Given the description of an element on the screen output the (x, y) to click on. 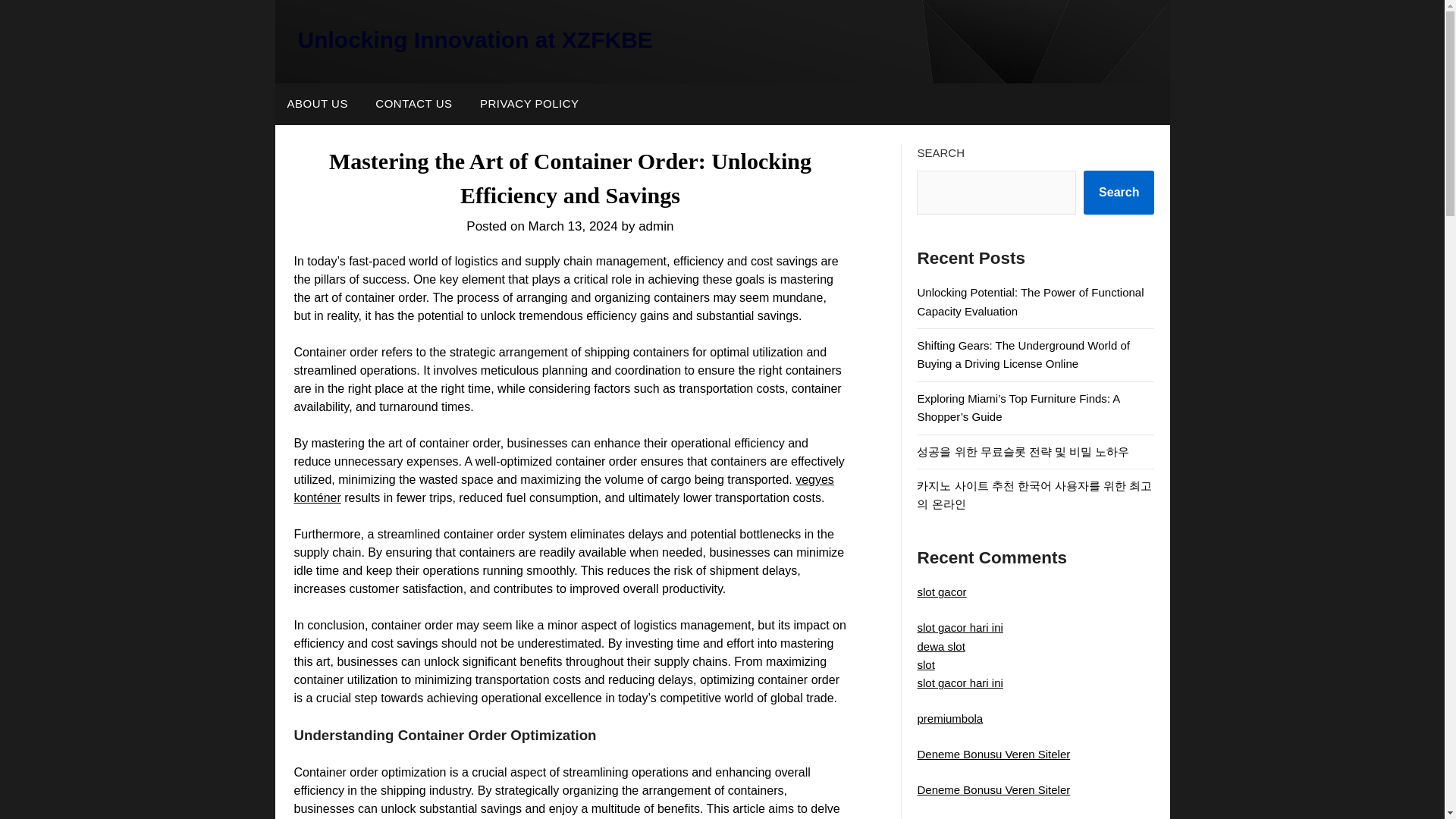
PRIVACY POLICY (529, 103)
admin (655, 226)
Search (1118, 192)
ABOUT US (317, 103)
Deneme Bonusu Veren Siteler (993, 789)
dewa slot (940, 645)
March 13, 2024 (572, 226)
premiumbola (949, 717)
CONTACT US (413, 103)
Unlocking Innovation at XZFKBE (474, 39)
slot gacor (941, 591)
slot gacor hari ini (960, 626)
slot (925, 664)
